Given the description of an element on the screen output the (x, y) to click on. 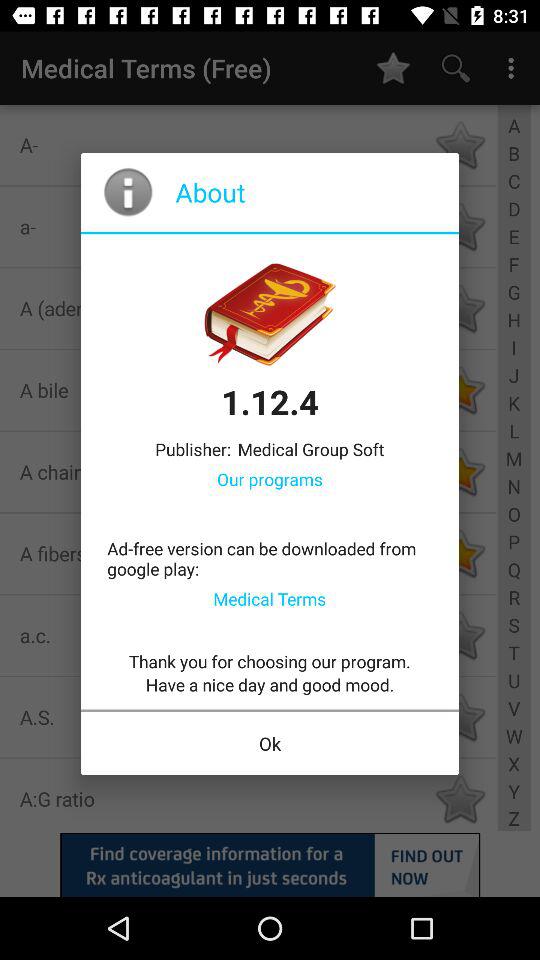
tap icon below publisher: item (269, 478)
